Given the description of an element on the screen output the (x, y) to click on. 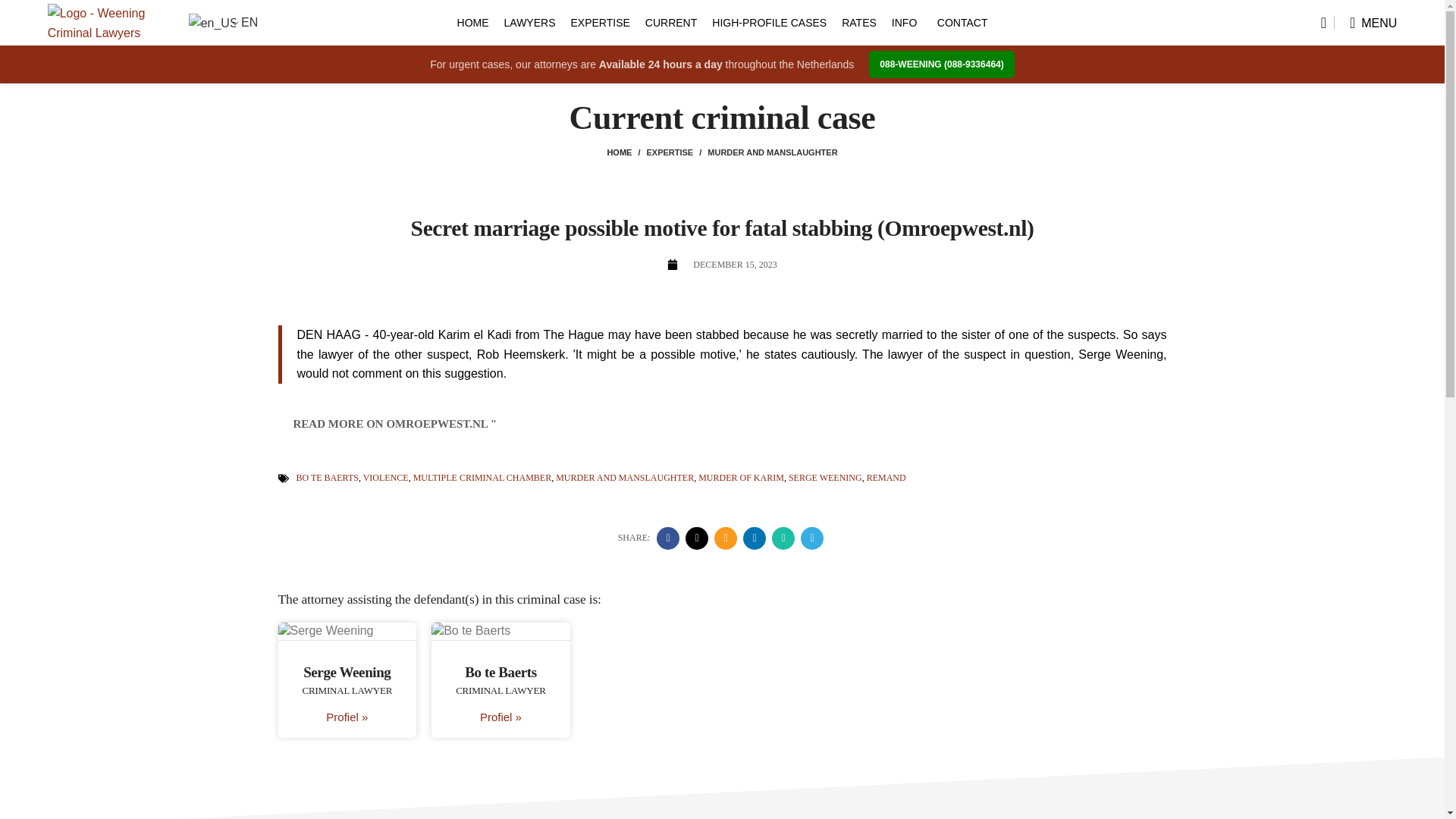
English (212, 23)
EXPERTISE (599, 22)
LAWYERS (529, 22)
CURRENT (671, 22)
INFO (906, 22)
English (212, 23)
EN (212, 23)
HIGH-PROFILE CASES (769, 22)
HOME (473, 22)
RATES (858, 22)
MENU (1373, 22)
CONTACT (962, 22)
